Given the description of an element on the screen output the (x, y) to click on. 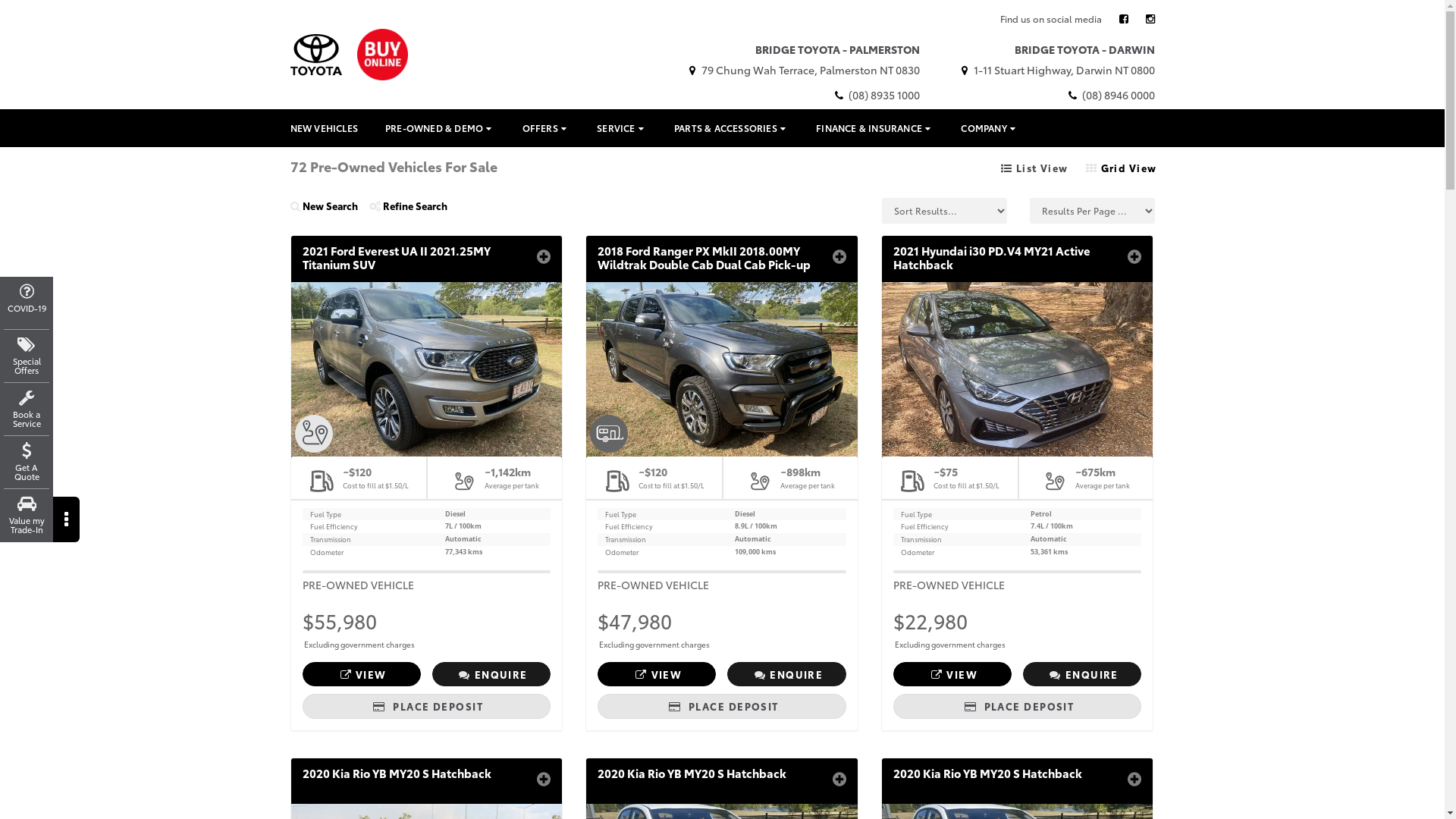
2020 Kia Rio YB MY20 S Hatchback Element type: text (425, 779)
PLACE DEPOSIT Element type: text (1017, 705)
1-11 Stuart Highway, Darwin NT 0800 Element type: text (1055, 69)
Special Offers Element type: text (26, 355)
New Search Element type: text (328, 210)
FINANCE & INSURANCE Element type: text (874, 128)
(08) 8935 1000 Element type: text (875, 94)
VIEW Element type: text (952, 674)
Refine Search Element type: text (413, 210)
2021 Ford Everest UA II 2021.25MY Titanium SUV Element type: text (425, 257)
Book a Service Element type: text (26, 408)
Value my Trade-In Element type: text (26, 514)
79 Chung Wah Terrace, Palmerston NT 0830 Element type: text (802, 69)
ENQUIRE Element type: text (786, 674)
ENQUIRE Element type: text (1081, 674)
ENQUIRE Element type: text (491, 674)
2021 Hyundai i30 PD.V4 MY21 Active Hatchback Element type: text (1017, 257)
PARTS & ACCESSORIES Element type: text (731, 128)
PRE-OWNED & DEMO Element type: text (439, 128)
Instagram Element type: hover (1149, 17)
NEW VEHICLES Element type: text (322, 128)
COMPANY Element type: text (989, 128)
2020 Kia Rio YB MY20 S Hatchback Element type: text (1017, 779)
(08) 8946 0000 Element type: text (1110, 94)
2020 Kia Rio YB MY20 S Hatchback Element type: text (721, 779)
Grid View Element type: text (1121, 167)
COVID-19 Element type: text (26, 302)
Get A Quote Element type: text (26, 461)
PLACE DEPOSIT Element type: text (721, 705)
List View Element type: text (1034, 167)
SERVICE Element type: text (621, 128)
PLACE DEPOSIT Element type: text (425, 705)
Facebook Element type: hover (1123, 17)
VIEW Element type: text (656, 674)
VIEW Element type: text (360, 674)
OFFERS Element type: text (545, 128)
